Given the description of an element on the screen output the (x, y) to click on. 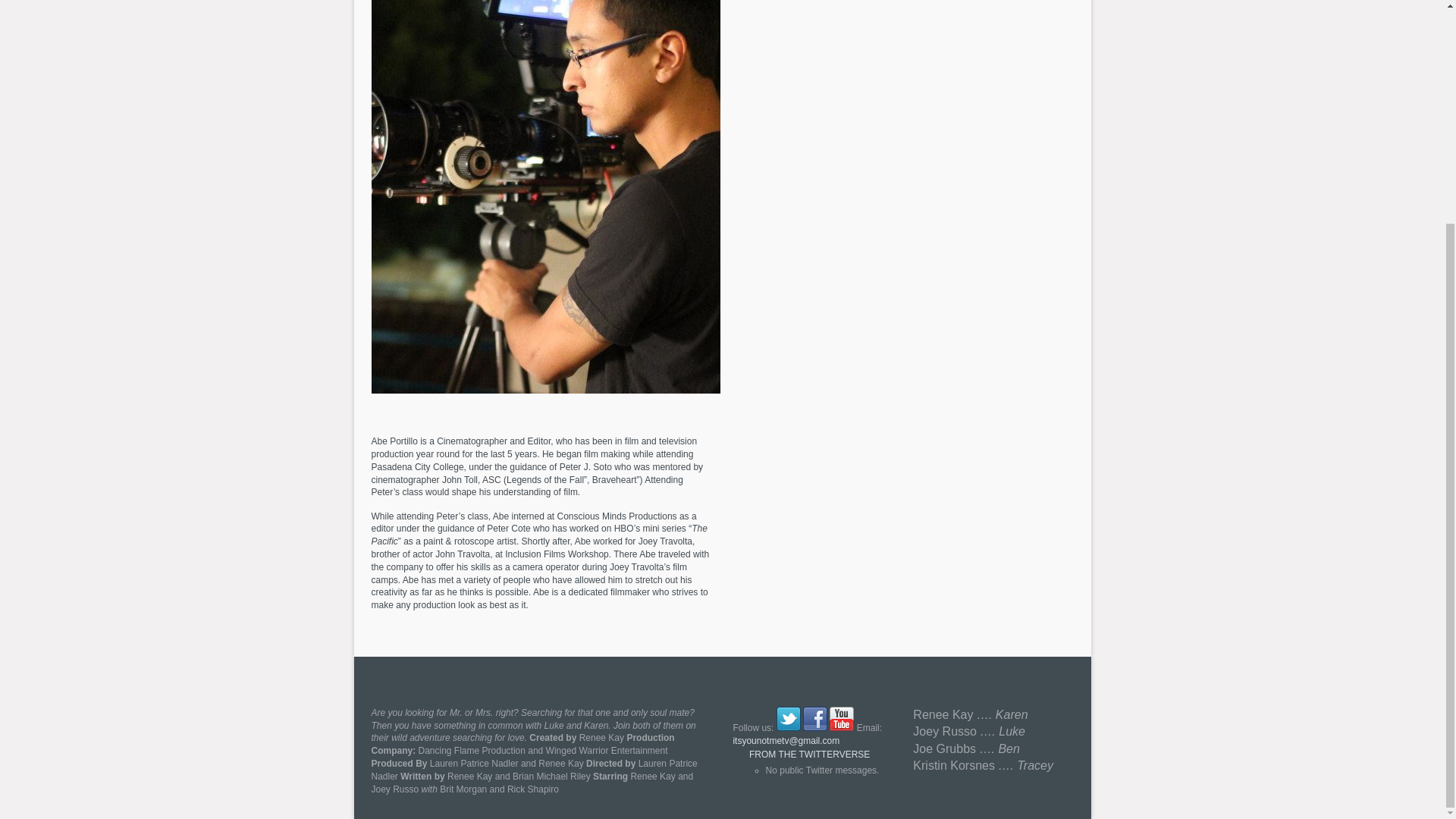
FROM THE TWITTERVERSE (809, 754)
